Given the description of an element on the screen output the (x, y) to click on. 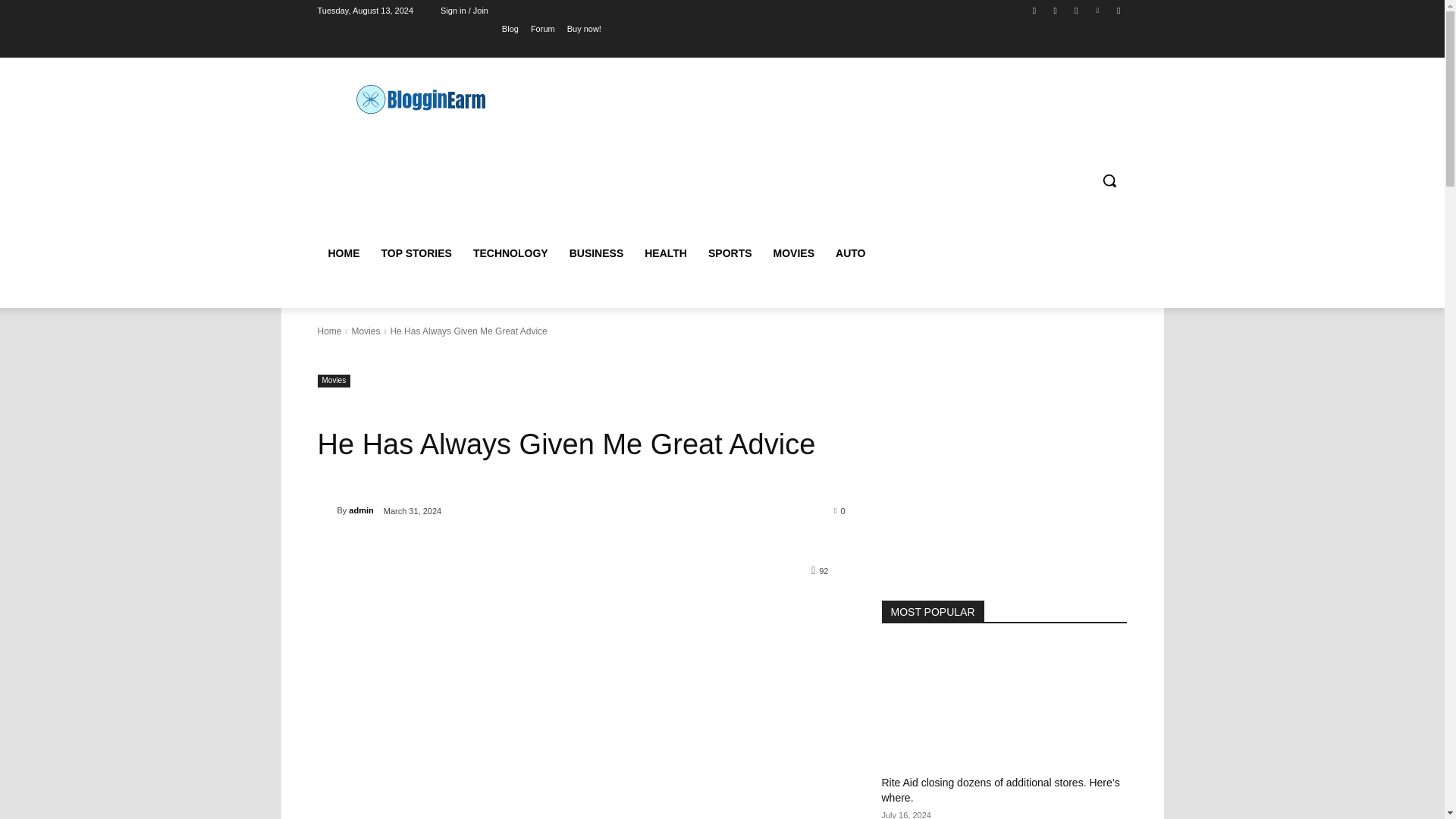
Buy now! (584, 28)
BUSINESS (596, 253)
Movies (365, 330)
AUTO (850, 253)
admin (360, 509)
TECHNOLOGY (511, 253)
MOVIES (793, 253)
Forum (542, 28)
Youtube (1117, 9)
